Given the description of an element on the screen output the (x, y) to click on. 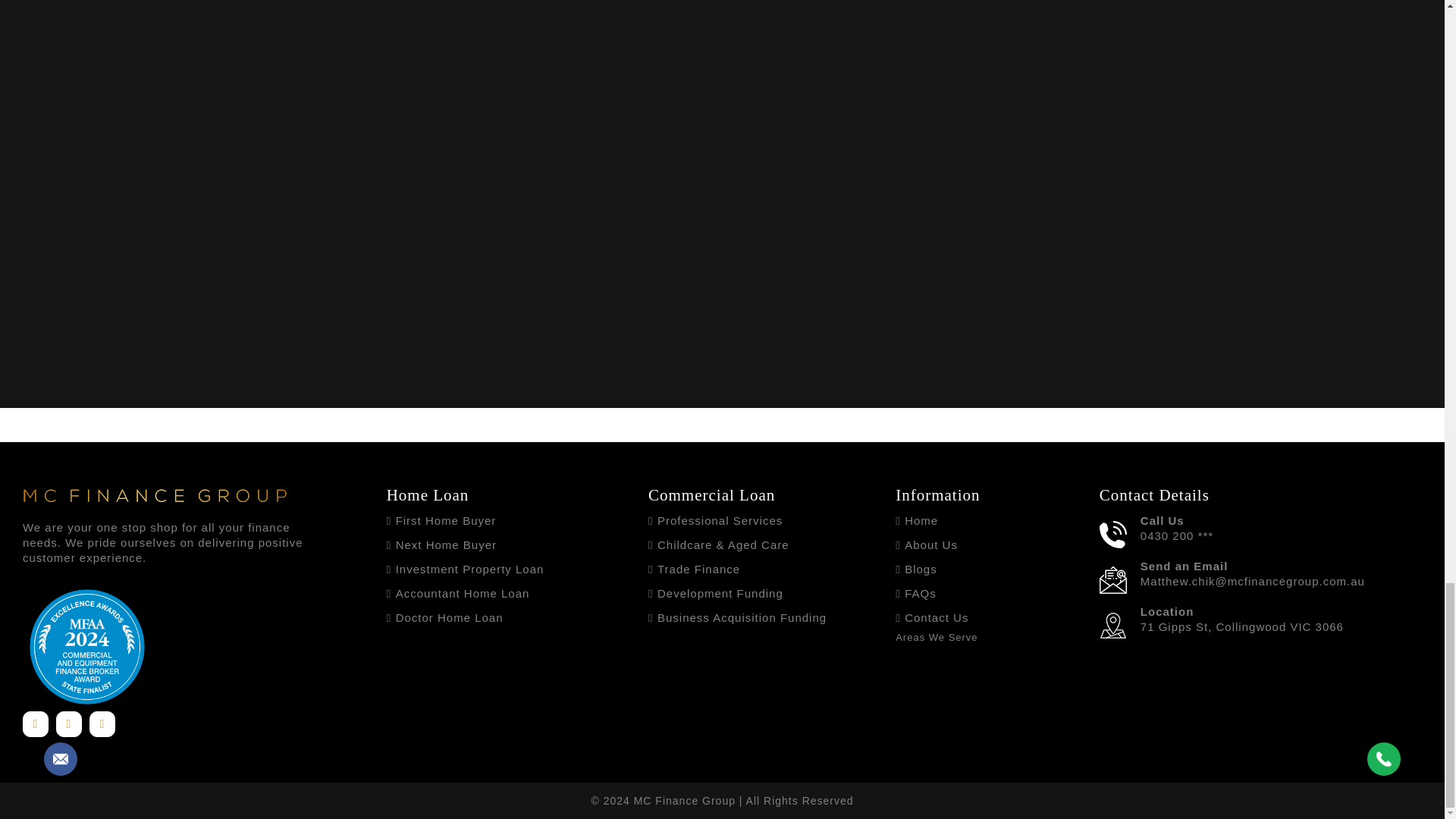
First Home Buyer (446, 520)
